Given the description of an element on the screen output the (x, y) to click on. 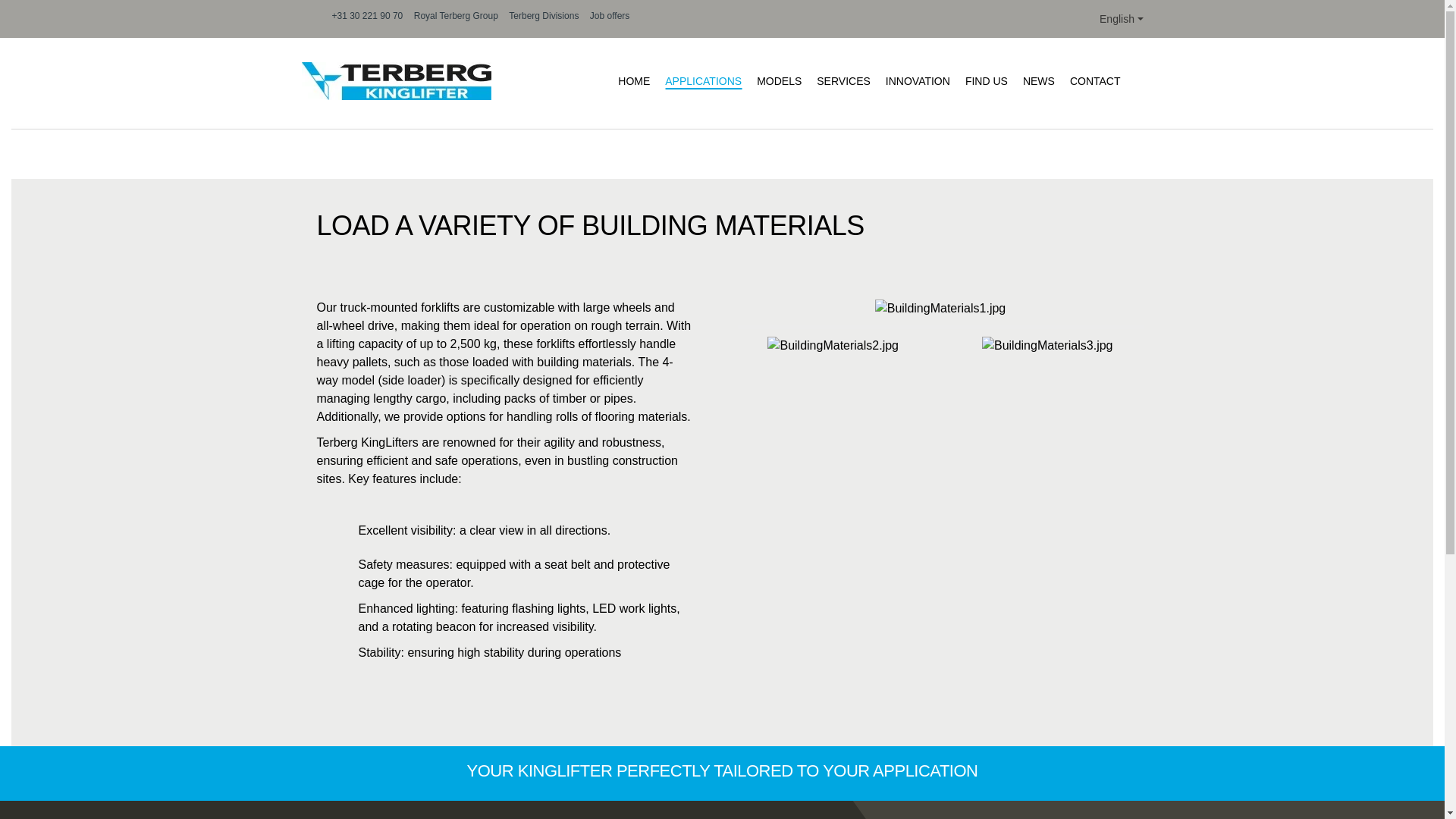
Terberg Divisions (543, 15)
English (1120, 18)
Royal Terberg Group (455, 15)
BuildingMaterials1.jpg (940, 308)
Royal Terberg Group (455, 15)
Job offers (608, 15)
Job offers (608, 15)
Terberg Divisions (543, 15)
